Given the description of an element on the screen output the (x, y) to click on. 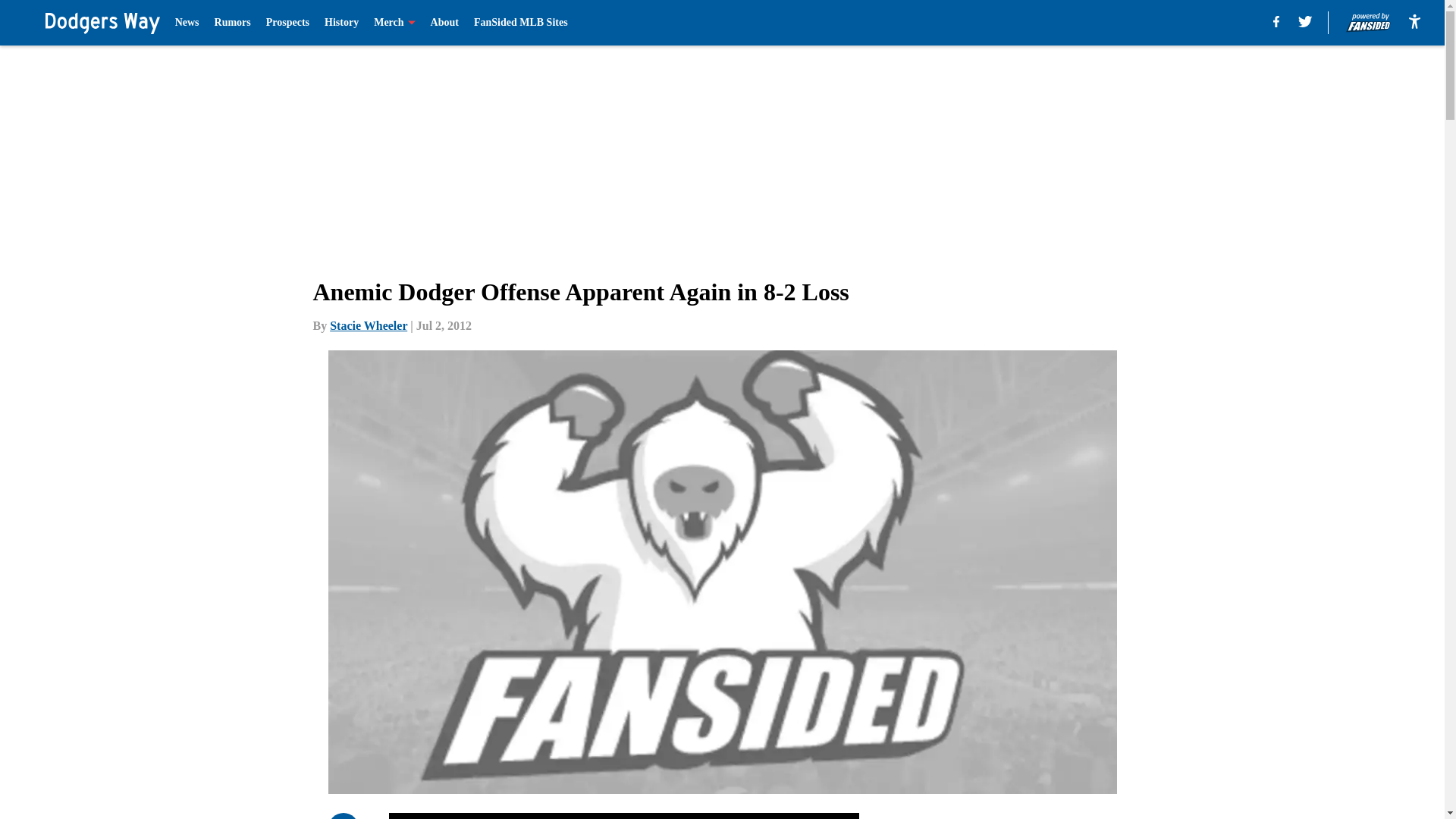
News (186, 22)
FanSided MLB Sites (520, 22)
About (444, 22)
Prospects (287, 22)
History (341, 22)
Rumors (232, 22)
Stacie Wheeler (368, 325)
